Given the description of an element on the screen output the (x, y) to click on. 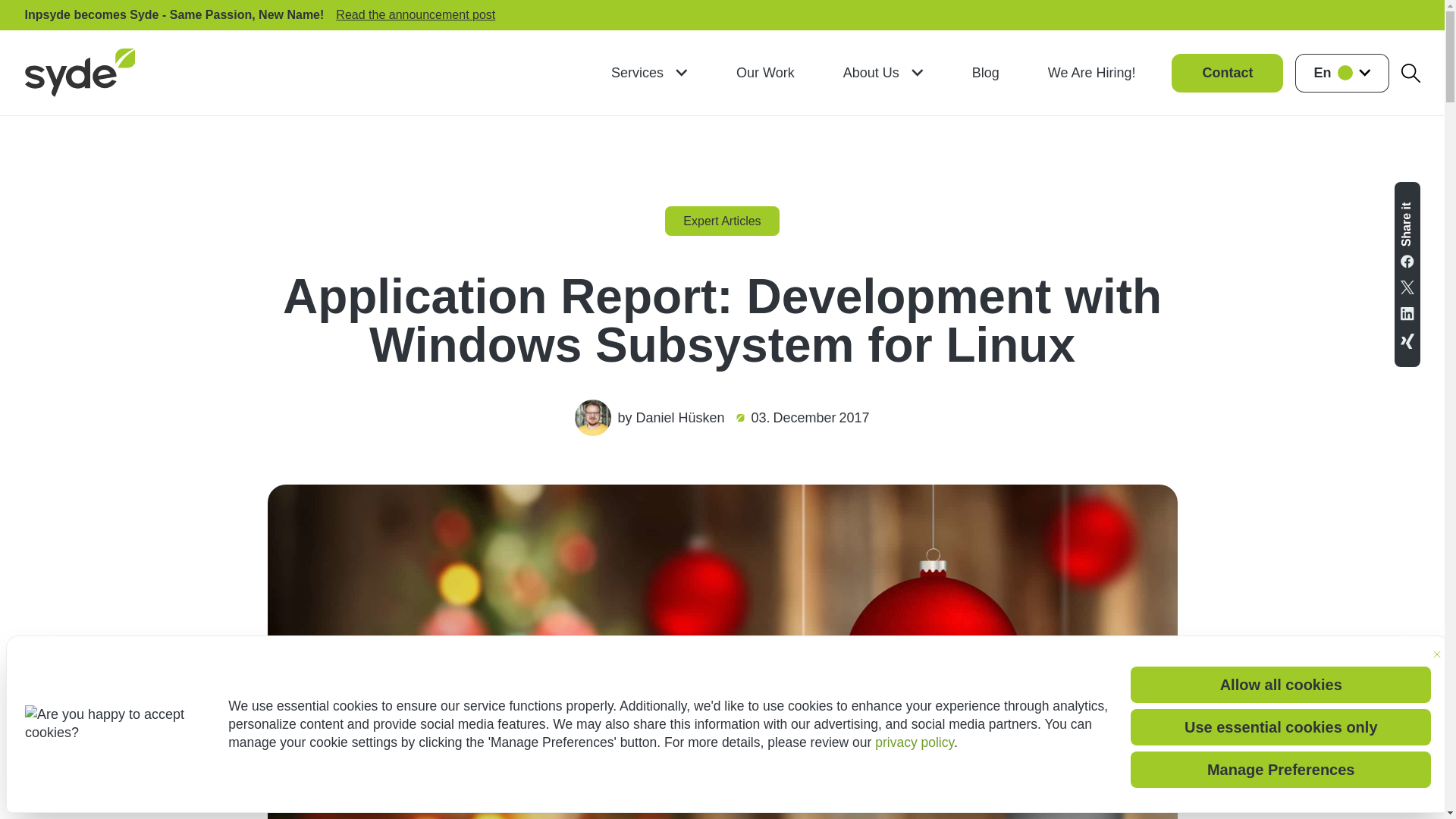
We Are Hiring! (1091, 72)
Blog (985, 72)
En (1342, 72)
About Us (883, 72)
Contact (1227, 72)
Syde homepage (79, 72)
Our Work (764, 72)
Services (649, 72)
Read the announcement post (415, 14)
